Given the description of an element on the screen output the (x, y) to click on. 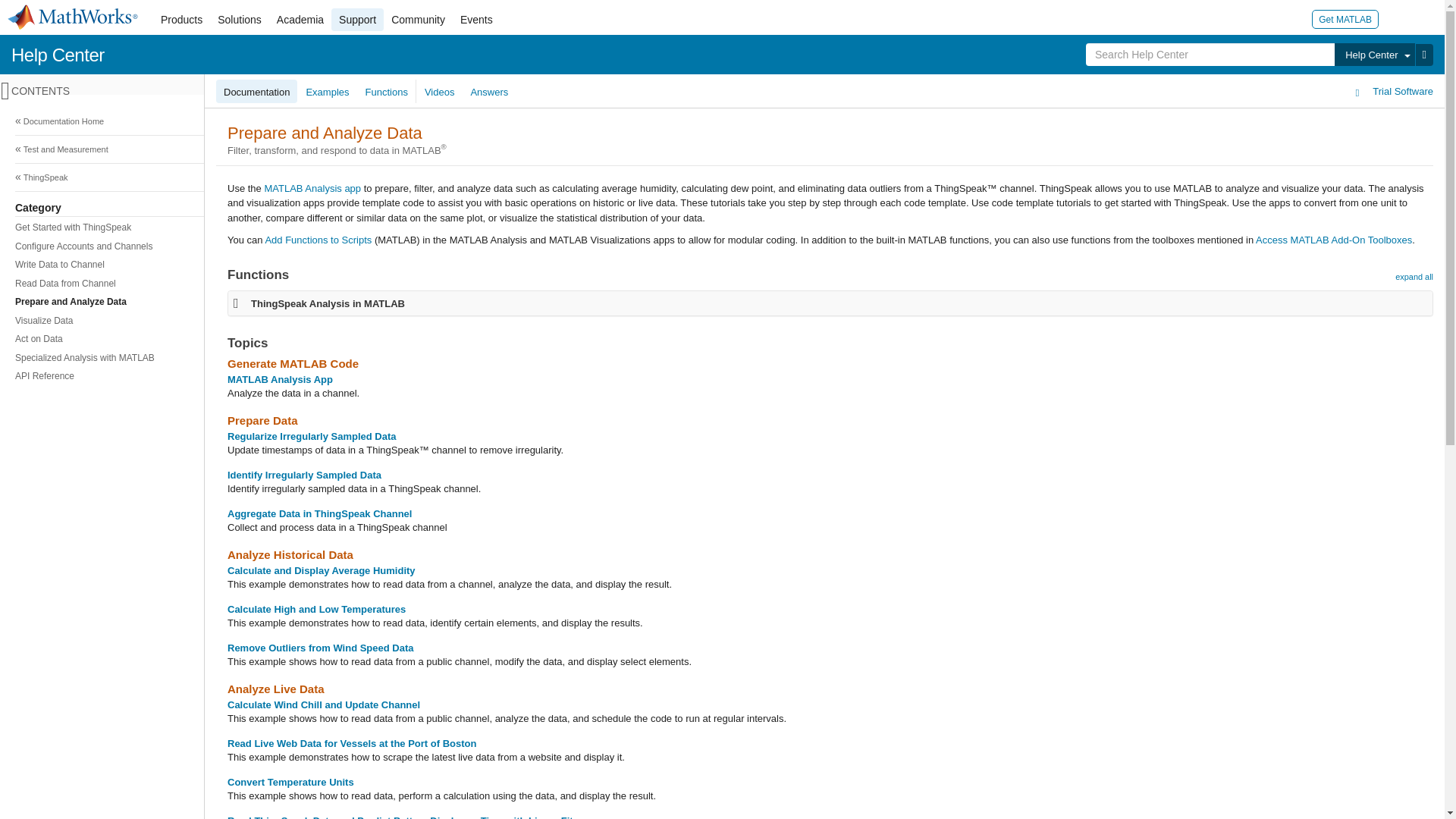
Support (357, 19)
ThingSpeak (720, 176)
Solutions (239, 19)
Documentation Home (720, 121)
Write Data to Channel (718, 264)
Events (476, 19)
Configure Accounts and Channels (718, 246)
Read Data from Channel (718, 283)
Help Center (57, 54)
Visualize Data (718, 321)
Academia (300, 19)
Get MATLAB (1344, 18)
Products (180, 19)
Prepare and Analyze Data (718, 302)
Get Started with ThingSpeak (718, 227)
